Given the description of an element on the screen output the (x, y) to click on. 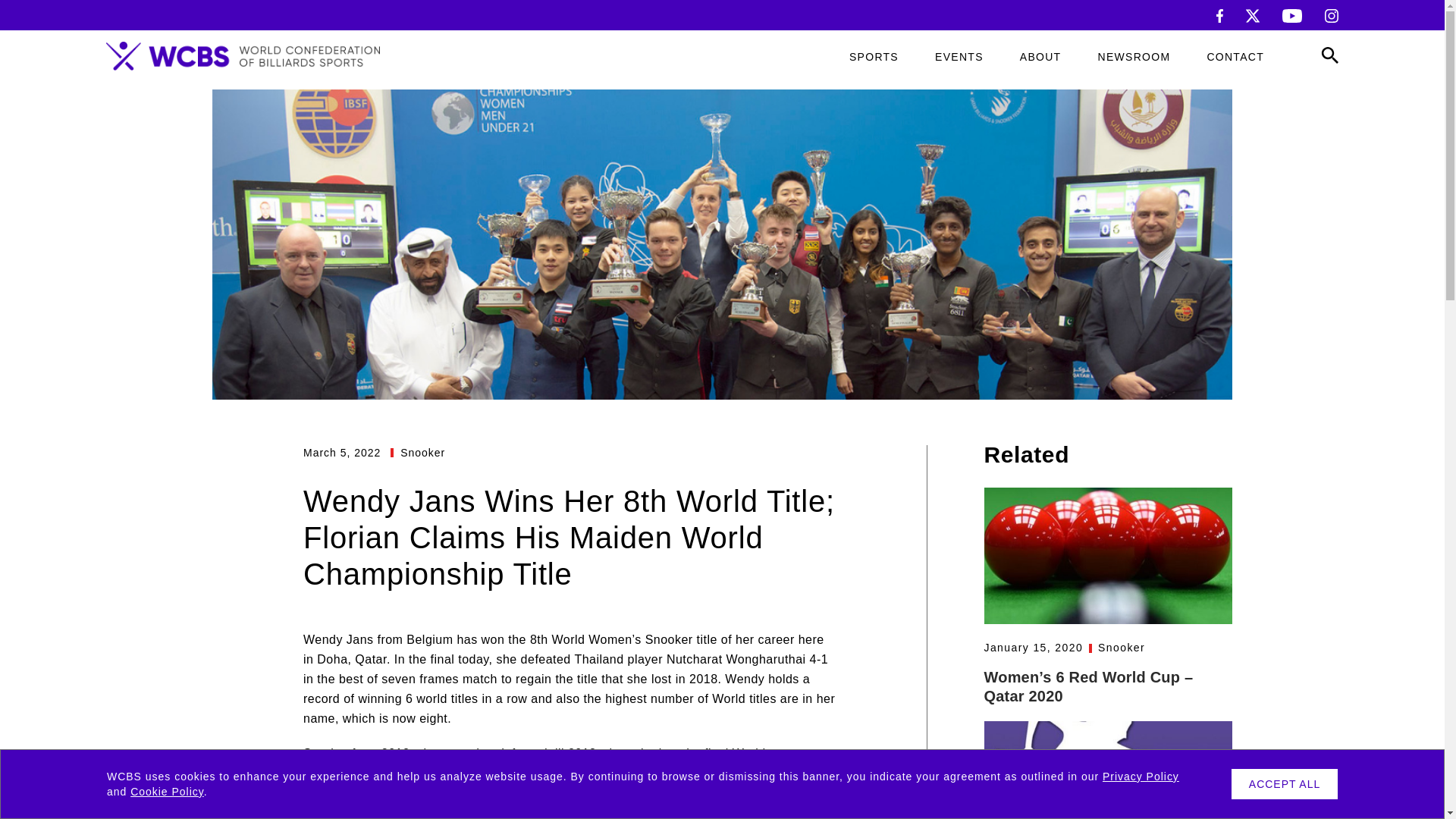
ABOUT (1040, 56)
EVENTS (959, 56)
logo-header (243, 55)
SPORTS (873, 56)
NEWSROOM (1133, 56)
CONTACT (1235, 56)
